Given the description of an element on the screen output the (x, y) to click on. 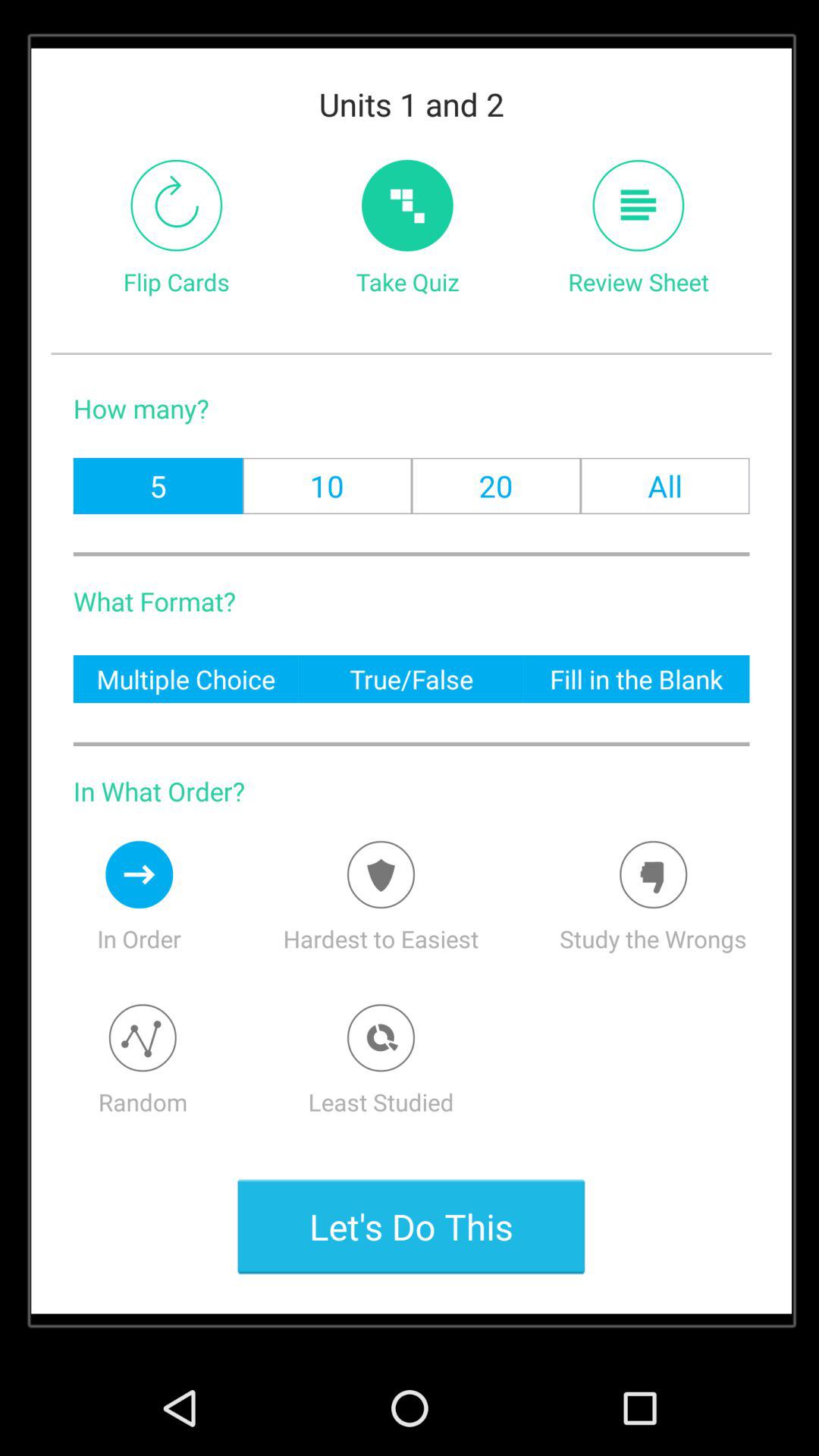
starts taking quiz (407, 205)
